Given the description of an element on the screen output the (x, y) to click on. 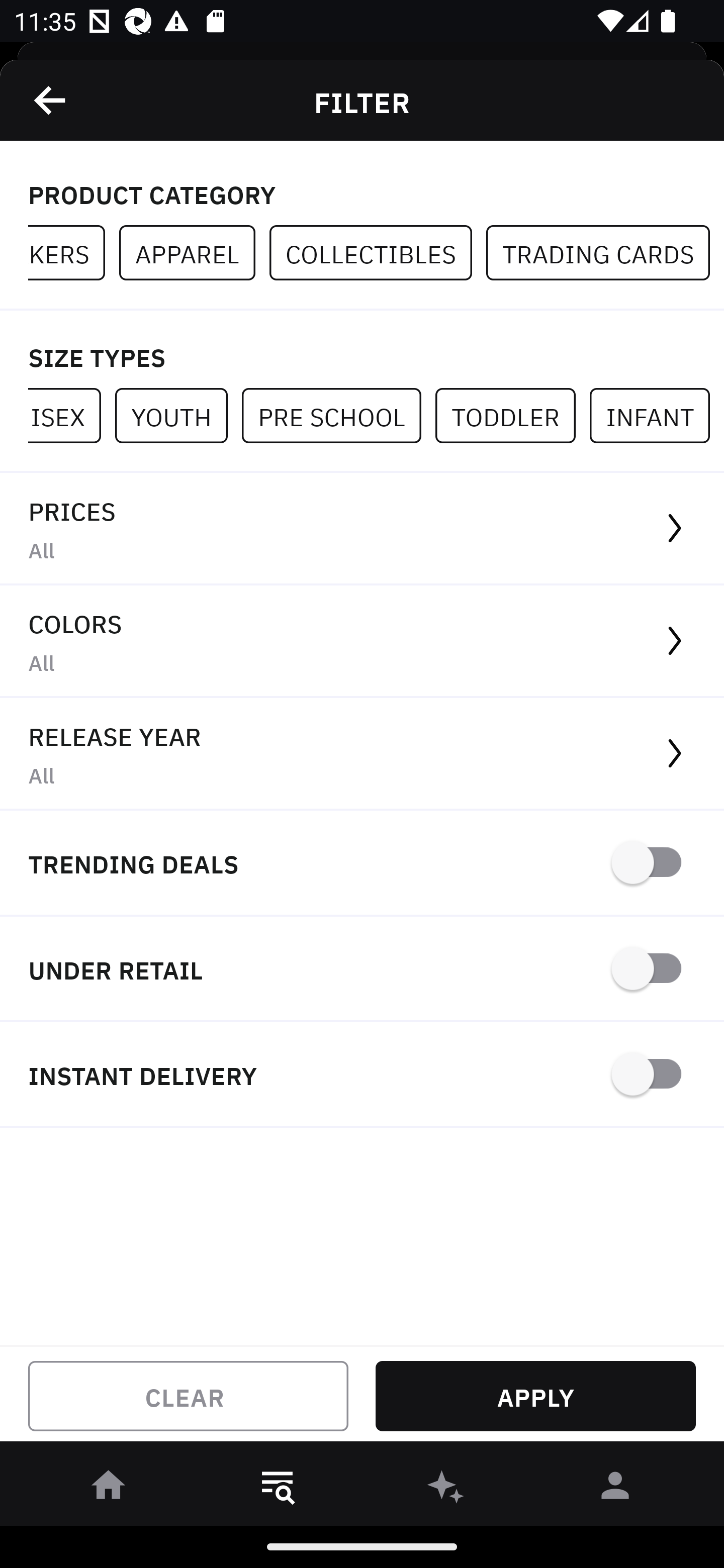
 (50, 100)
SNEAKERS (73, 252)
APPAREL (194, 252)
COLLECTIBLES (377, 252)
TRADING CARDS (605, 252)
UNISEX (71, 415)
YOUTH (178, 415)
PRE SCHOOL (338, 415)
TODDLER (512, 415)
INFANT (657, 415)
PRICES All (362, 528)
COLORS All (362, 640)
RELEASE YEAR All (362, 753)
TRENDING DEALS (362, 863)
UNDER RETAIL (362, 969)
INSTANT DELIVERY (362, 1075)
CLEAR  (188, 1396)
APPLY (535, 1396)
󰋜 (108, 1488)
󱎸 (277, 1488)
󰫢 (446, 1488)
󰀄 (615, 1488)
